Given the description of an element on the screen output the (x, y) to click on. 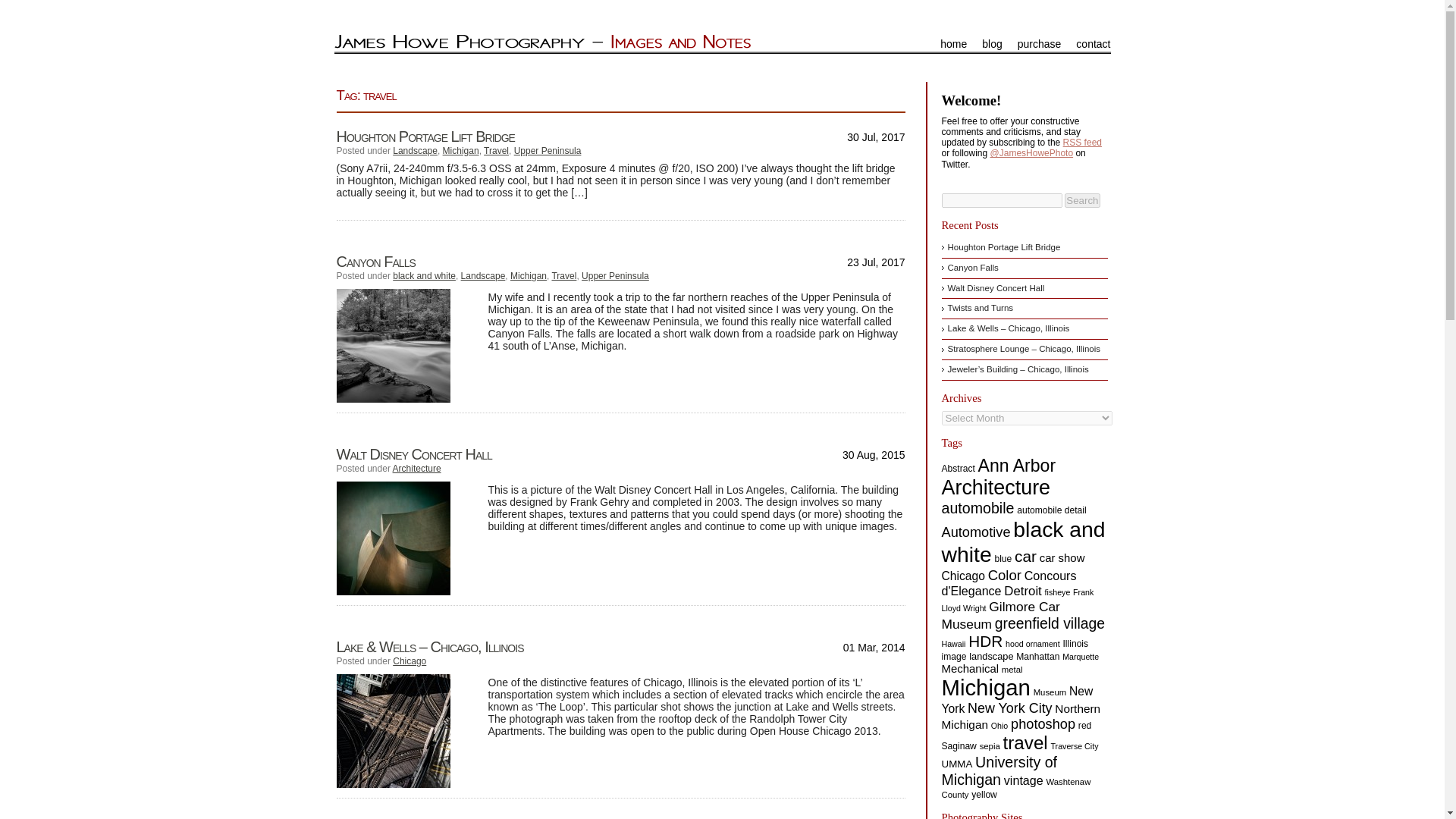
black and white (424, 276)
Houghton Portage Lift Bridge (425, 135)
Chicago (409, 661)
Walt Disney Concert Hall (414, 453)
Travel (563, 276)
Canyon Falls (375, 261)
blog (991, 43)
purchase (1039, 43)
Michigan (460, 150)
contact (1092, 43)
